Given the description of an element on the screen output the (x, y) to click on. 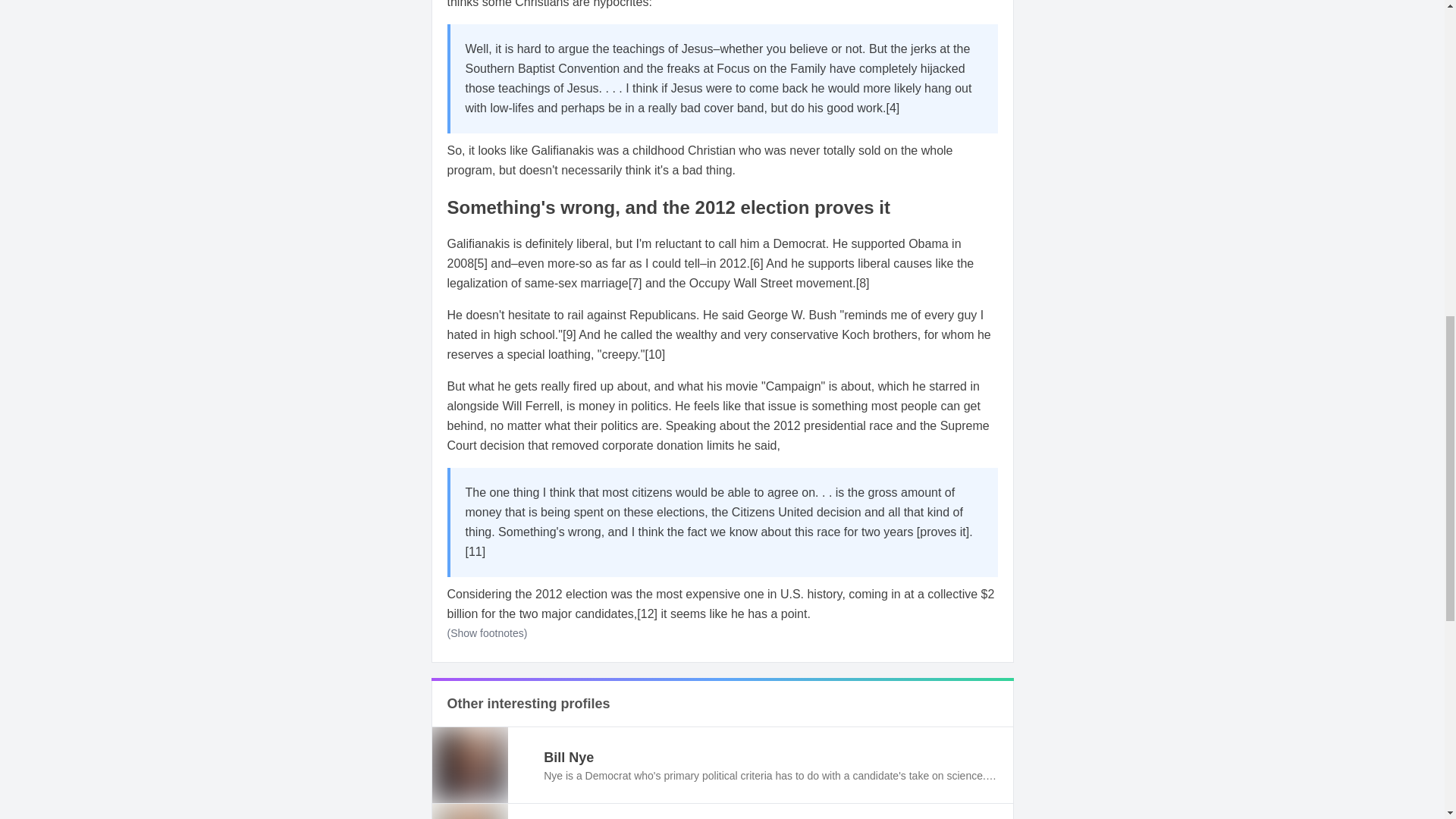
Zach Galifianakis: Bible full of typos. (569, 334)
Zach Galifianakis: Bible full of typos. (480, 263)
Celebs send last-minute checks to Obama, Romney. (755, 263)
Zach Galifianakis: Bible full of typos. (892, 107)
